Given the description of an element on the screen output the (x, y) to click on. 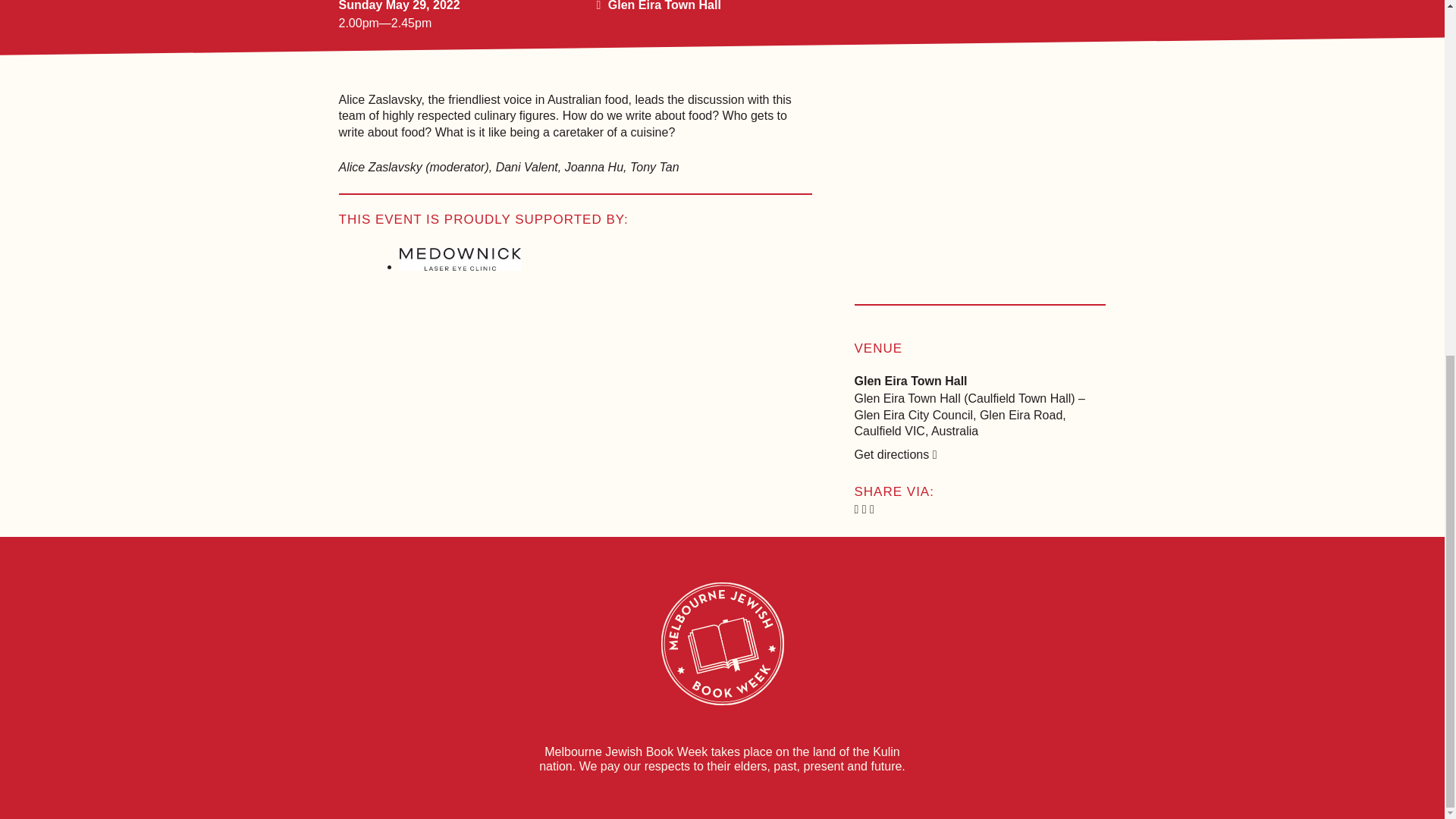
Glen Eira Town Hall (909, 380)
Glen Eira Town Hall (664, 5)
Get directions (894, 454)
